Given the description of an element on the screen output the (x, y) to click on. 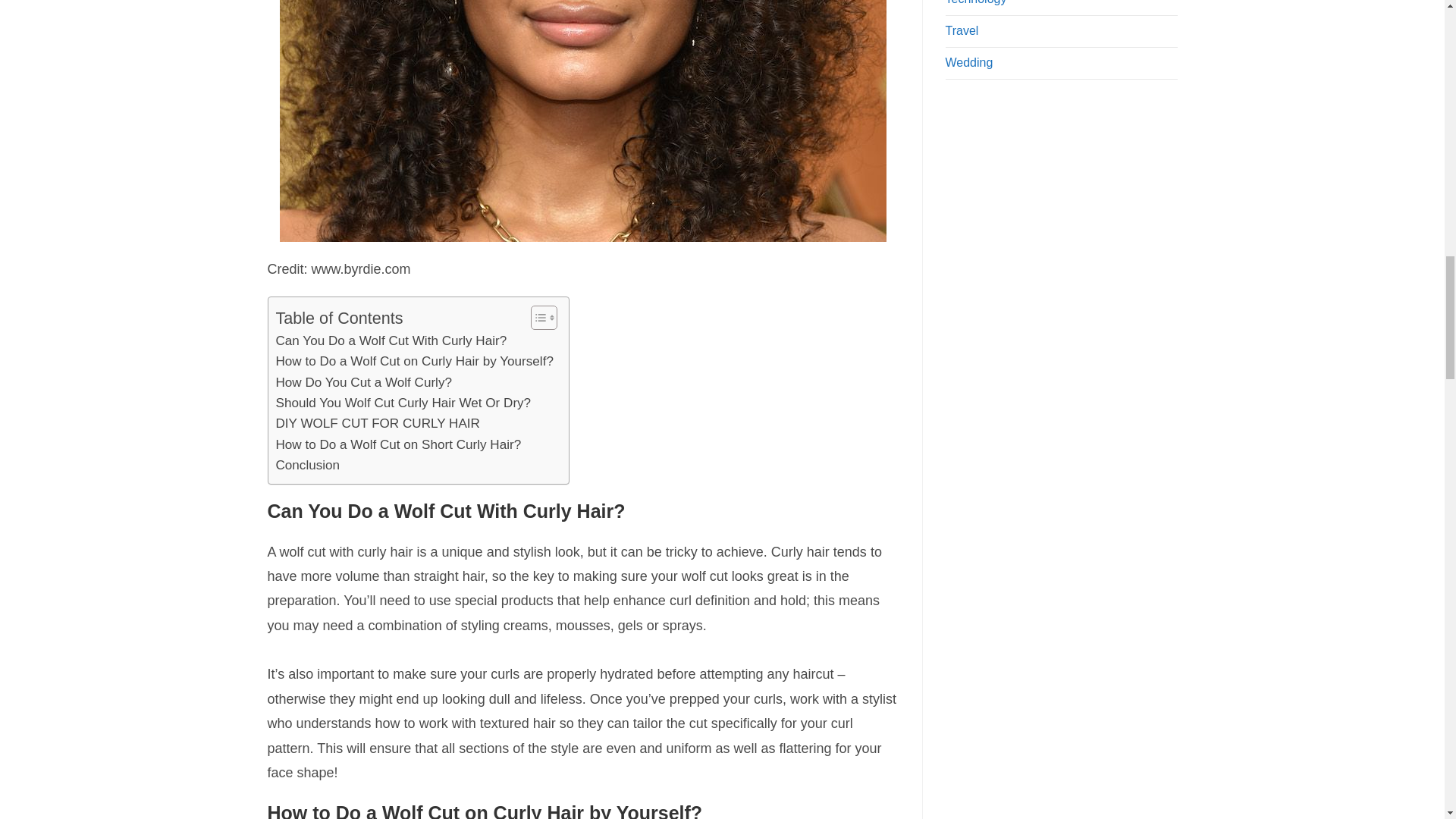
Should You Wolf Cut Curly Hair Wet Or Dry? (403, 403)
How Do You Cut a Wolf Curly? (363, 382)
Conclusion  (308, 465)
How to Do a Wolf Cut on Curly Hair by Yourself? (414, 361)
How to Do a Wolf Cut on Curly Hair by Yourself?  (414, 361)
How to Do a Wolf Cut on Short Curly Hair? (398, 444)
How to Do a Wolf Cut on Short Curly Hair?  (398, 444)
DIY WOLF CUT FOR CURLY HAIR (378, 423)
DIY WOLF CUT FOR CURLY HAIR (378, 423)
Can You Do a Wolf Cut With Curly Hair? (391, 340)
Can You Do a Wolf Cut With Curly Hair?  (391, 340)
Should You Wolf Cut Curly Hair Wet Or Dry?  (403, 403)
Conclusion (308, 465)
How Do You Cut a Wolf Curly?  (363, 382)
